Given the description of an element on the screen output the (x, y) to click on. 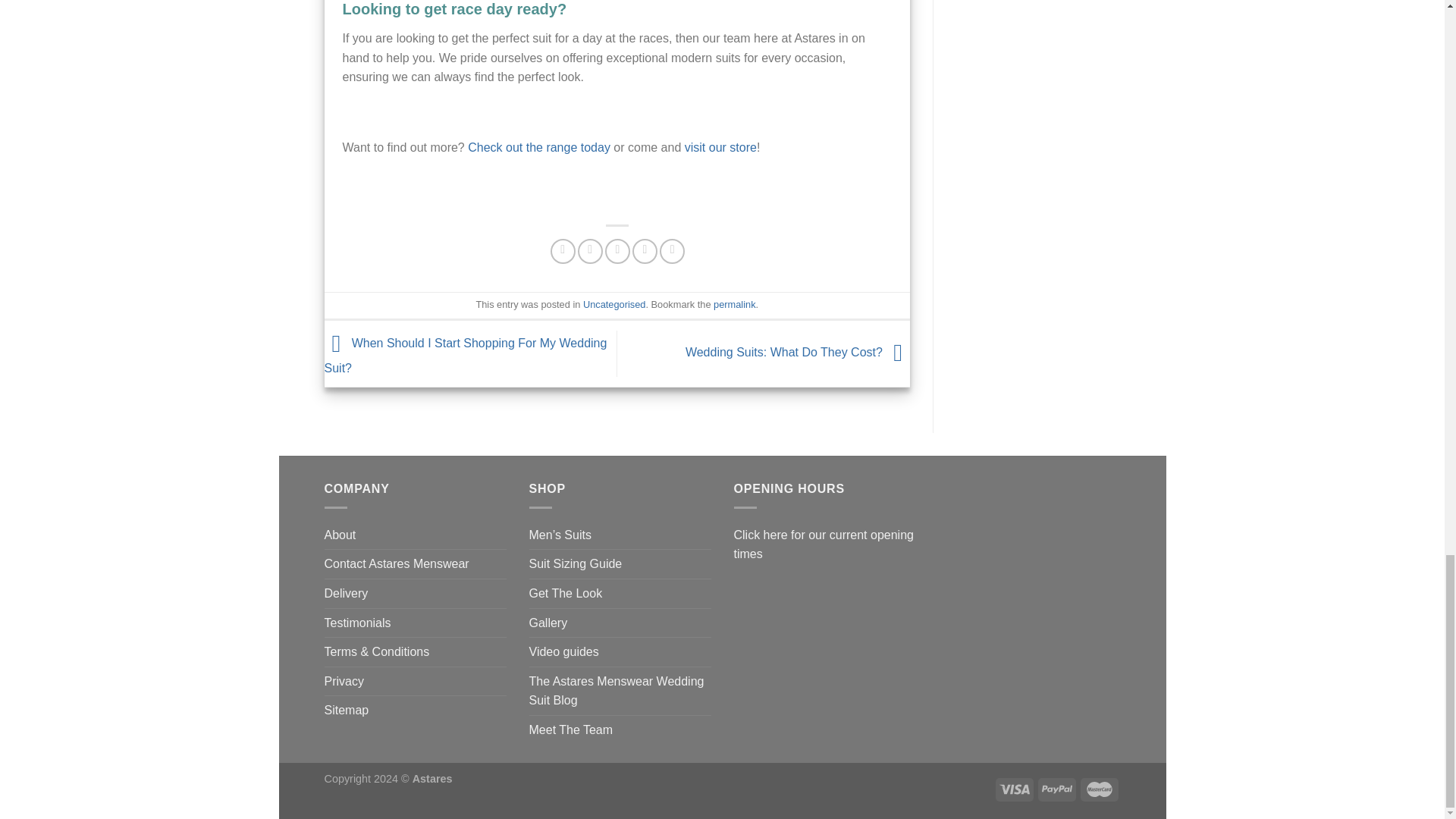
Share on Facebook (562, 251)
Pin on Pinterest (644, 251)
visit our store (720, 146)
Share on LinkedIn (671, 251)
Email to a Friend (617, 251)
Check out the range today (538, 146)
Share on Twitter (590, 251)
Permalink to What Should Men Wear To The Races? (734, 304)
